Given the description of an element on the screen output the (x, y) to click on. 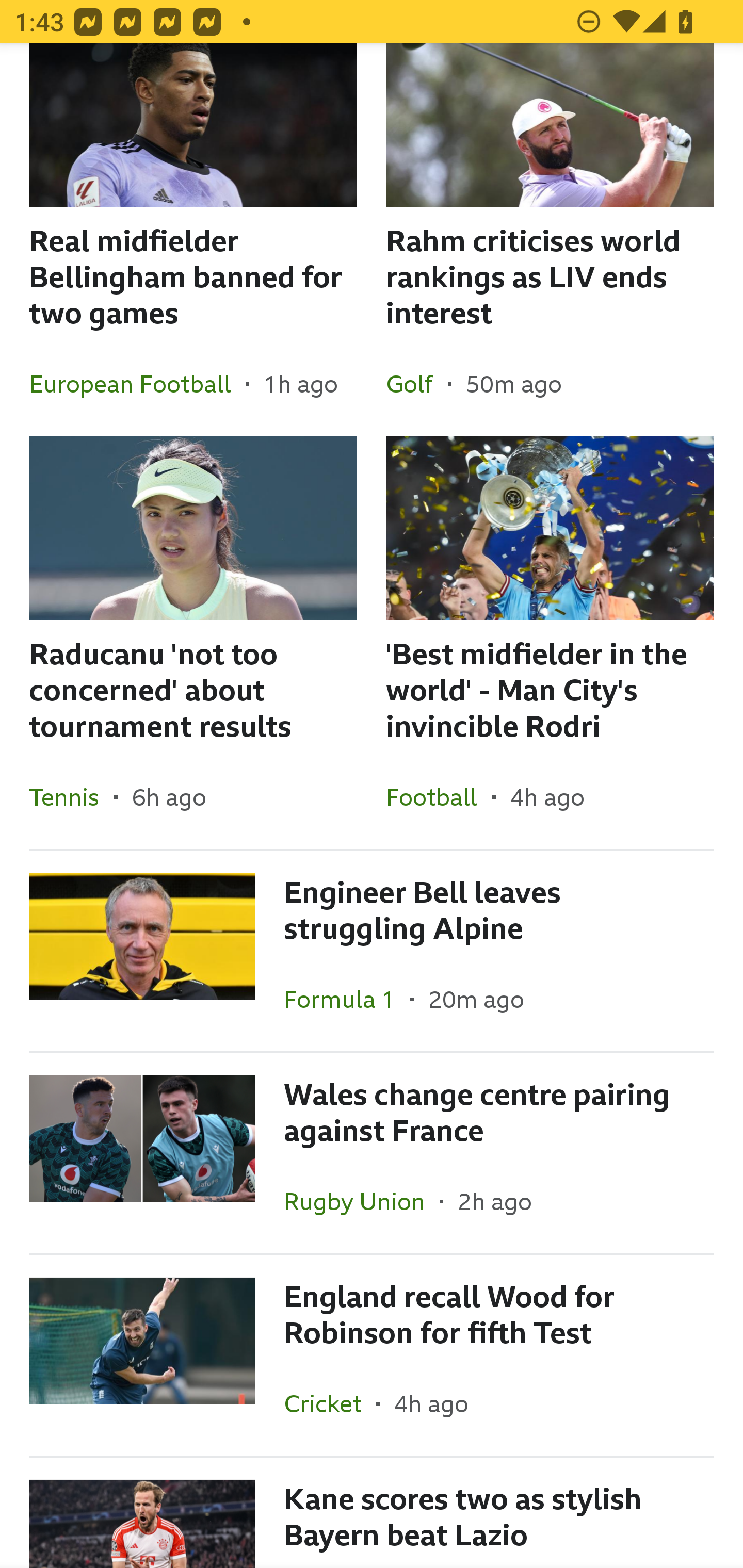
European Football In the section European Football (136, 383)
Golf In the section Golf (416, 383)
Tennis In the section Tennis (70, 796)
Football In the section Football (438, 796)
Formula 1 In the section Formula 1 (346, 998)
Rugby Union In the section Rugby Union (361, 1200)
Cricket In the section Cricket (329, 1403)
